Given the description of an element on the screen output the (x, y) to click on. 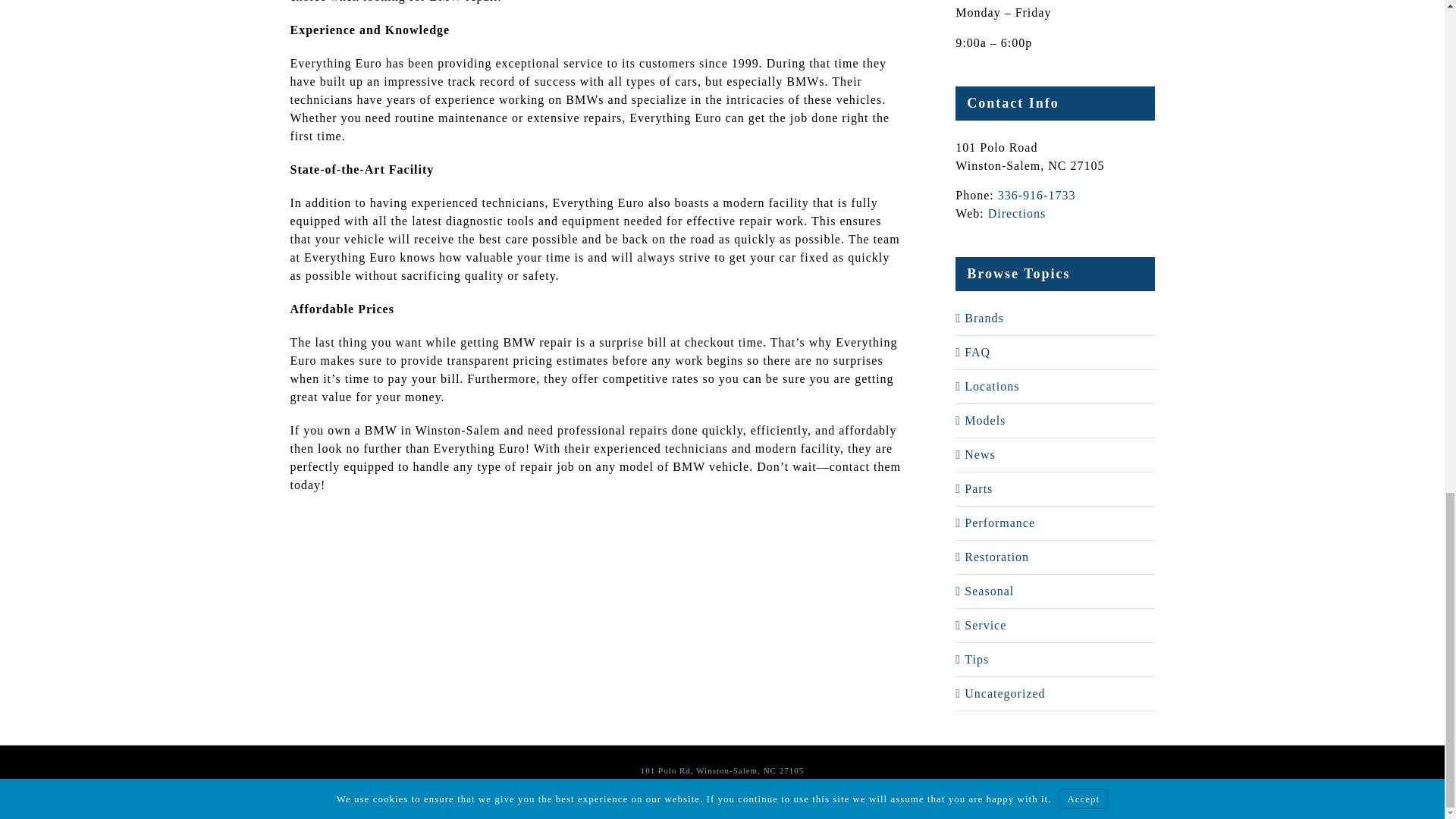
Brands (1055, 318)
Locations (1055, 386)
FAQ (1055, 352)
Directions (1017, 213)
336-916-1733 (1036, 195)
